Given the description of an element on the screen output the (x, y) to click on. 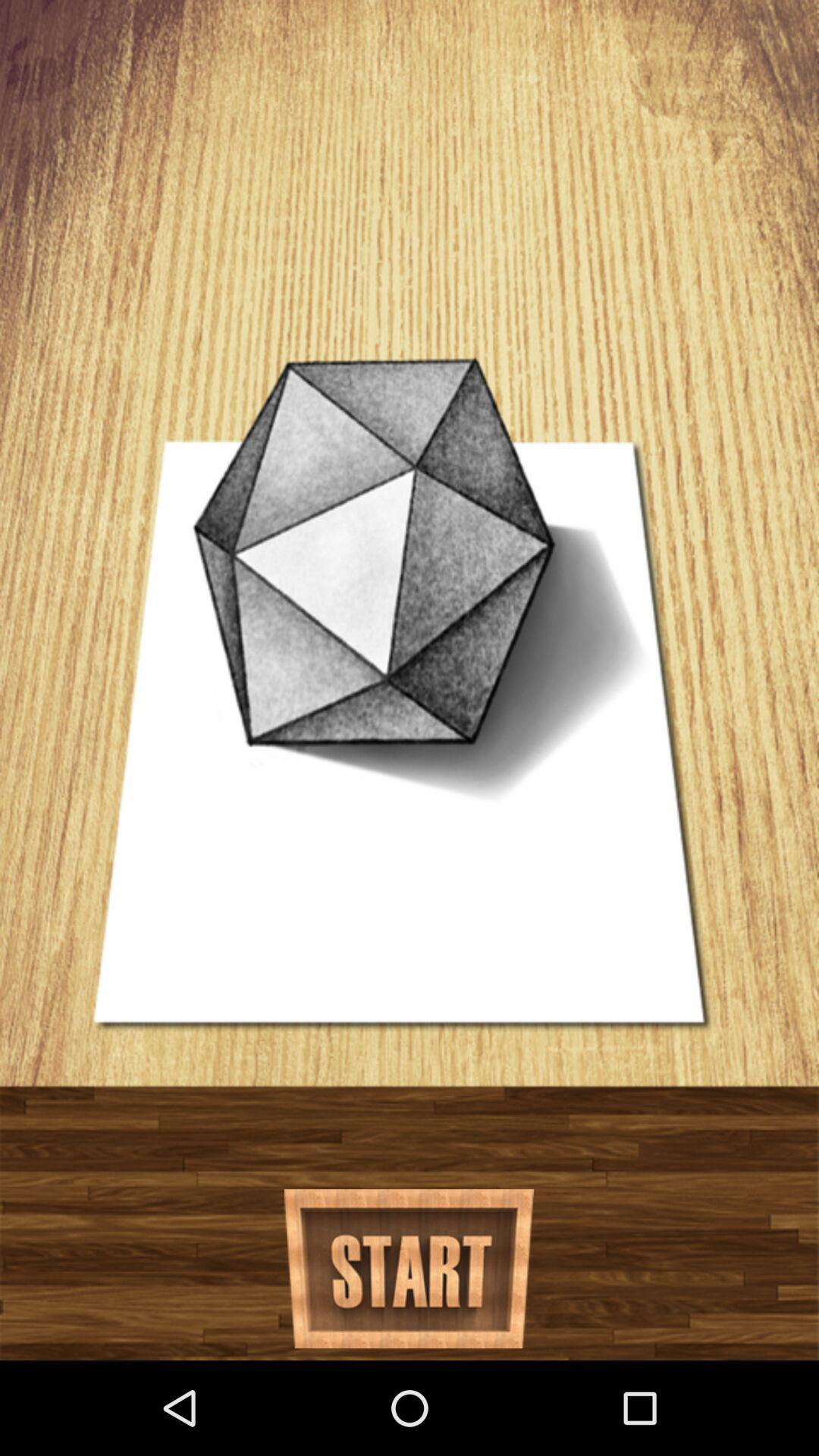
start the drawing instruction (409, 1268)
